Given the description of an element on the screen output the (x, y) to click on. 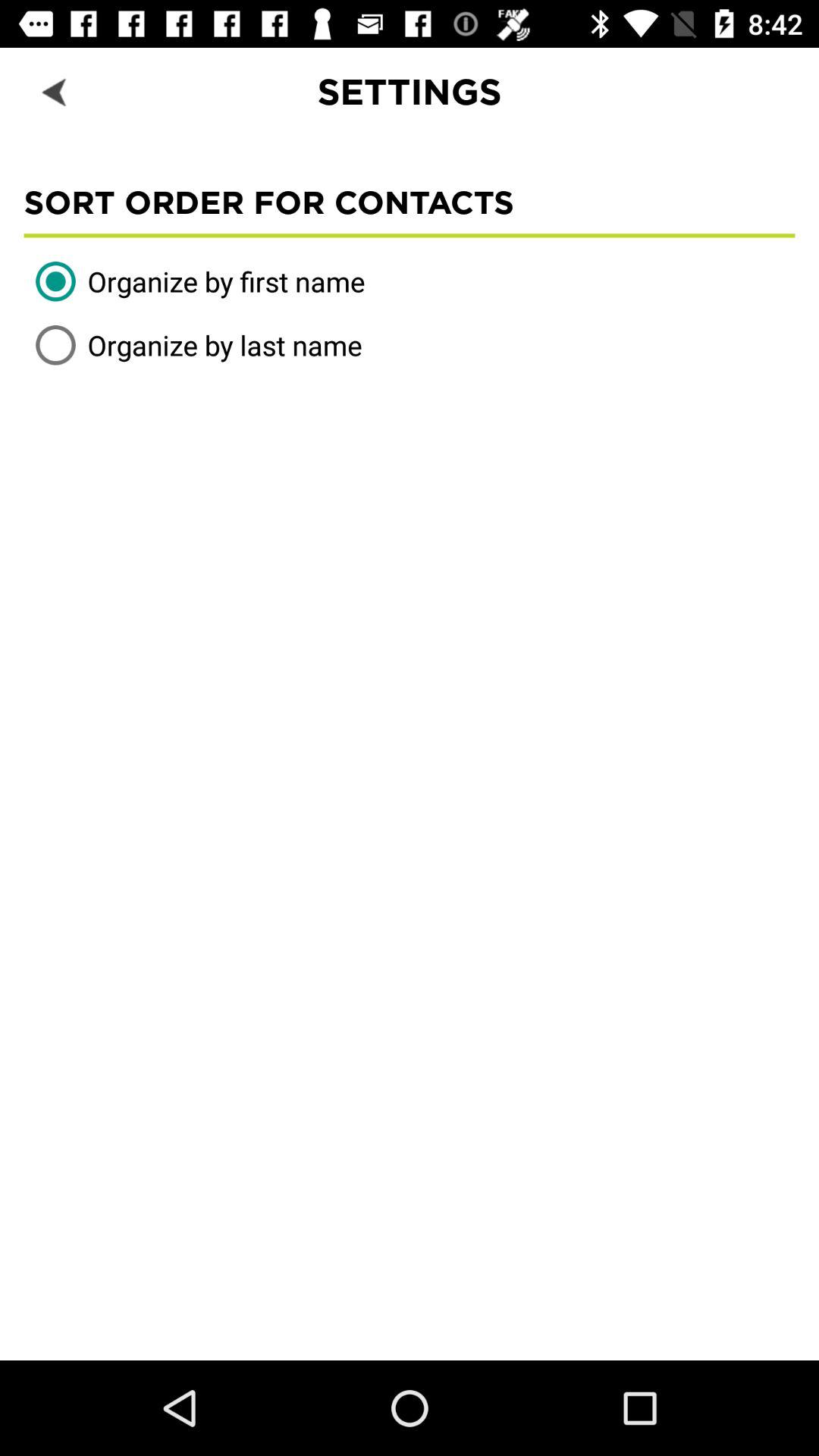
press icon above sort order for icon (55, 91)
